Given the description of an element on the screen output the (x, y) to click on. 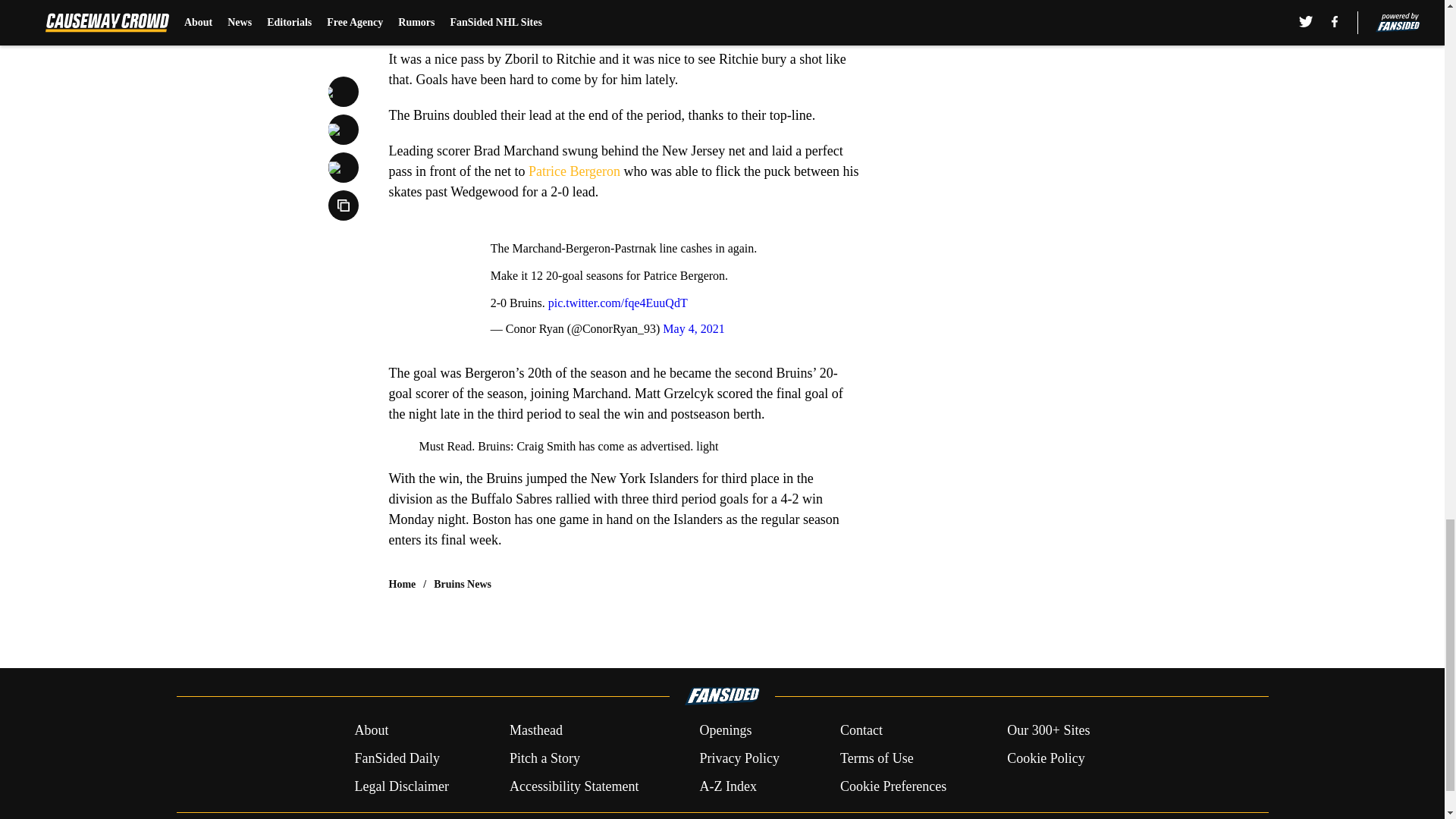
Terms of Use (877, 758)
Cookie Policy (1045, 758)
Contact (861, 730)
May 4, 2021 (692, 328)
Privacy Policy (738, 758)
Openings (724, 730)
About (370, 730)
May 4, 2021 (641, 14)
Masthead (535, 730)
Patrice Bergeron (574, 171)
Bruins News (462, 584)
FanSided Daily (396, 758)
Home (401, 584)
Pitch a Story (544, 758)
